Given the description of an element on the screen output the (x, y) to click on. 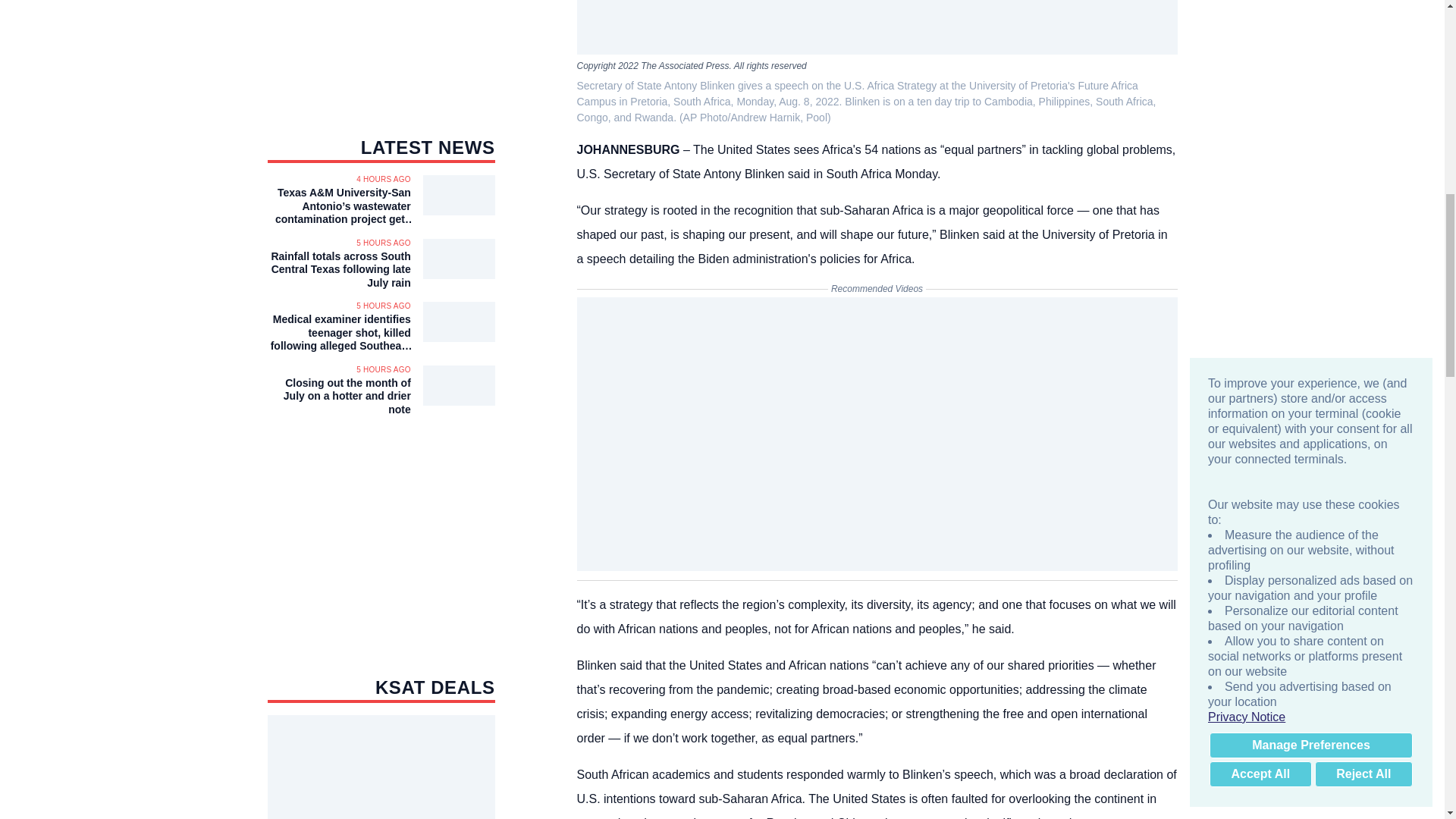
Closing out the month of July on a hotter and drier note (338, 395)
